Given the description of an element on the screen output the (x, y) to click on. 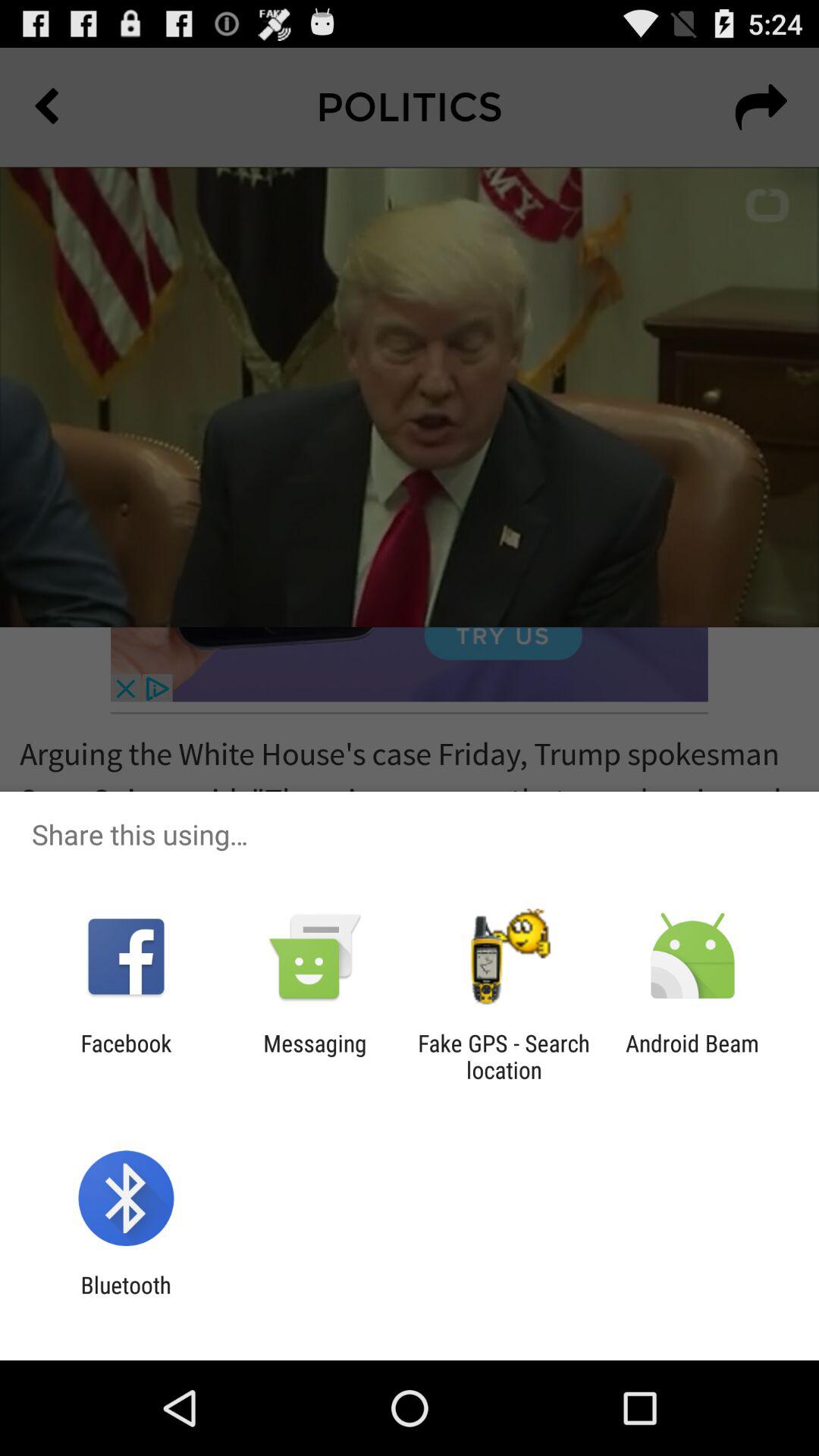
launch app next to the fake gps search (314, 1056)
